Given the description of an element on the screen output the (x, y) to click on. 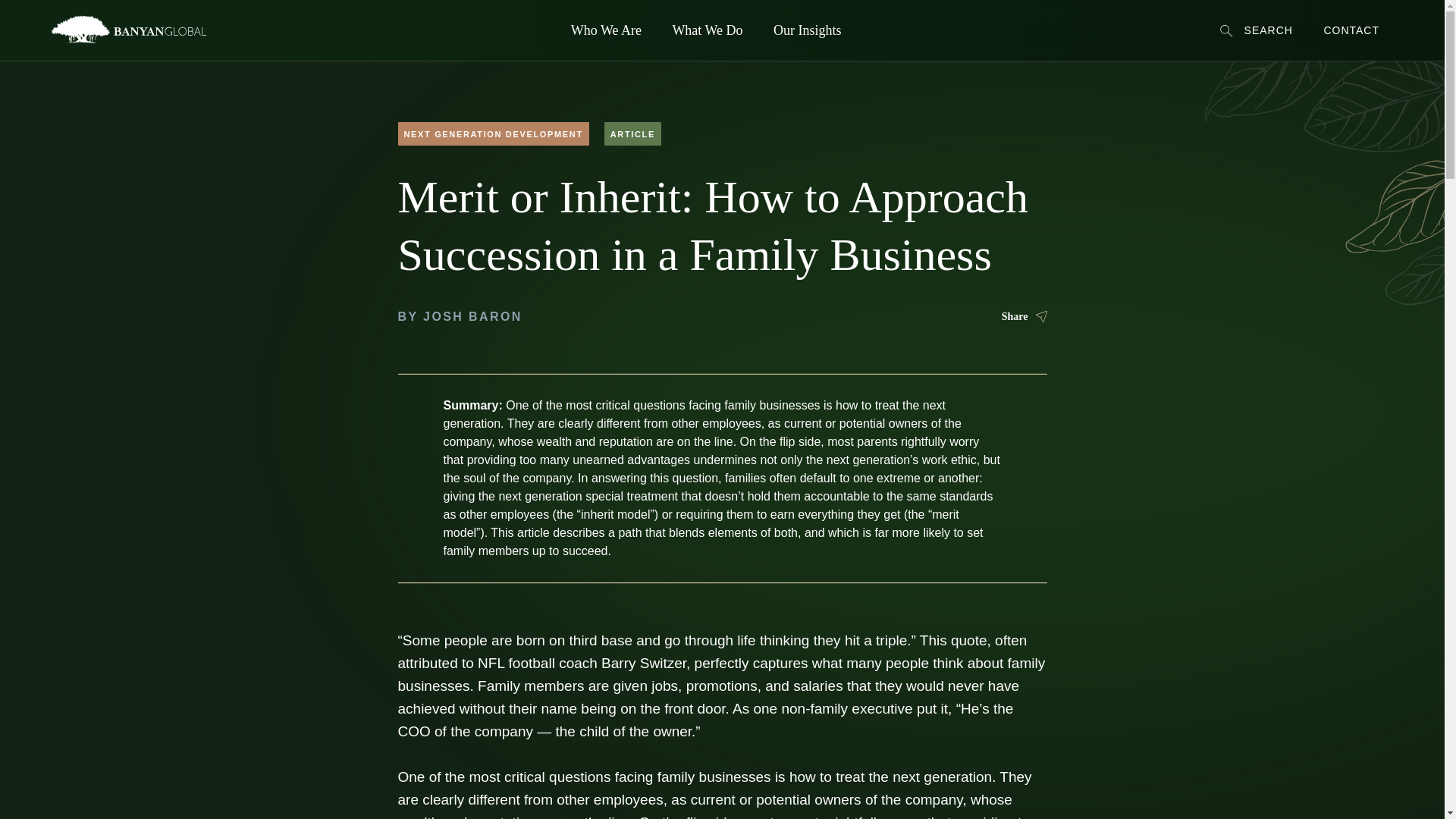
What We Do (706, 30)
Our People (873, 472)
SEARCH (1256, 29)
ARTICLE (632, 133)
CONTACT (1350, 29)
Who We Are (606, 30)
Who We Are (875, 447)
NEXT GENERATION DEVELOPMENT (492, 133)
Banyan Global Logo (163, 721)
Our Insights (808, 30)
Share (1023, 316)
